Given the description of an element on the screen output the (x, y) to click on. 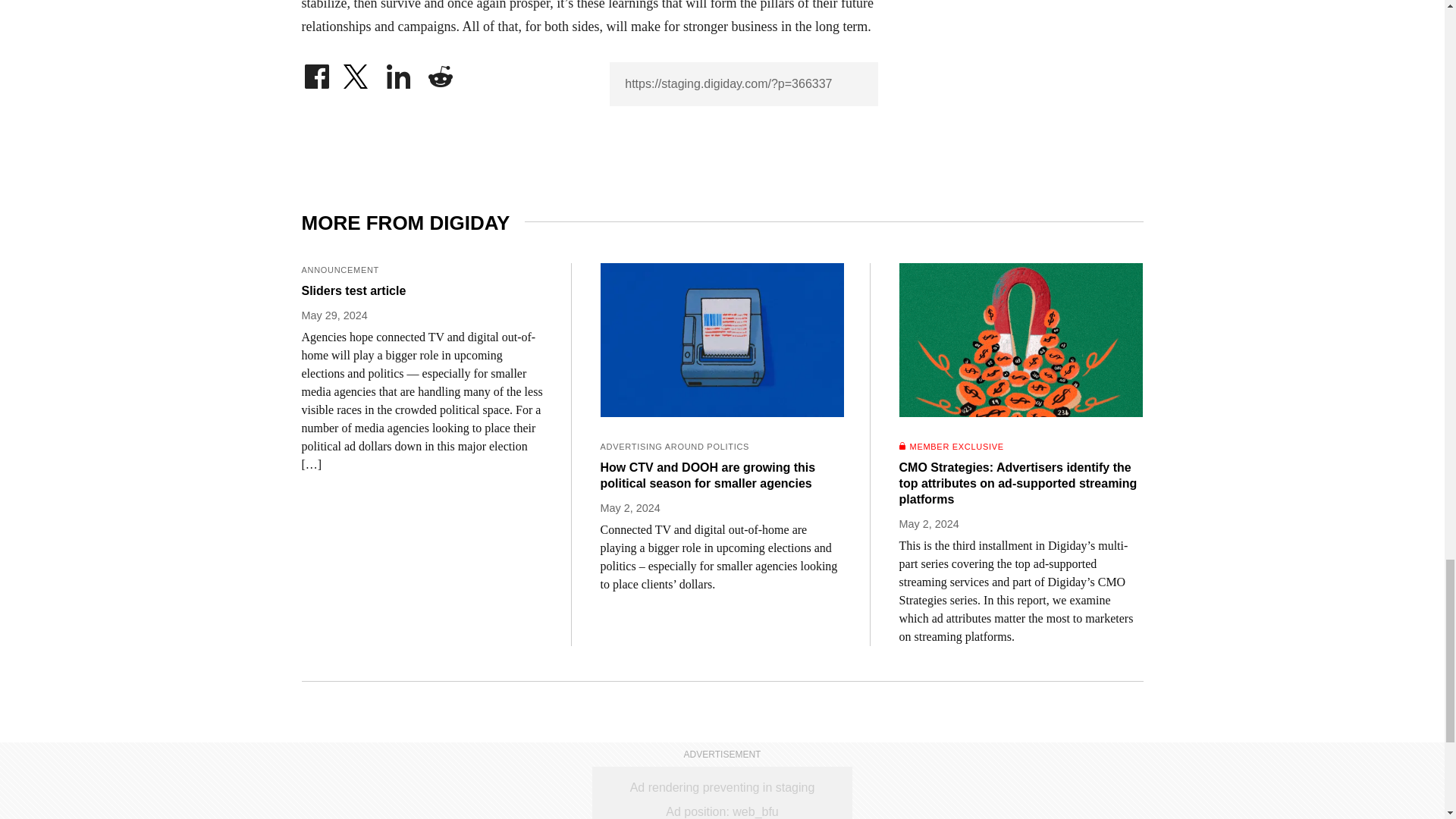
Share on Twitter (357, 72)
Share on Reddit (440, 72)
Sliders test article (423, 290)
Share on Facebook (316, 72)
Share on LinkedIn (398, 72)
